Given the description of an element on the screen output the (x, y) to click on. 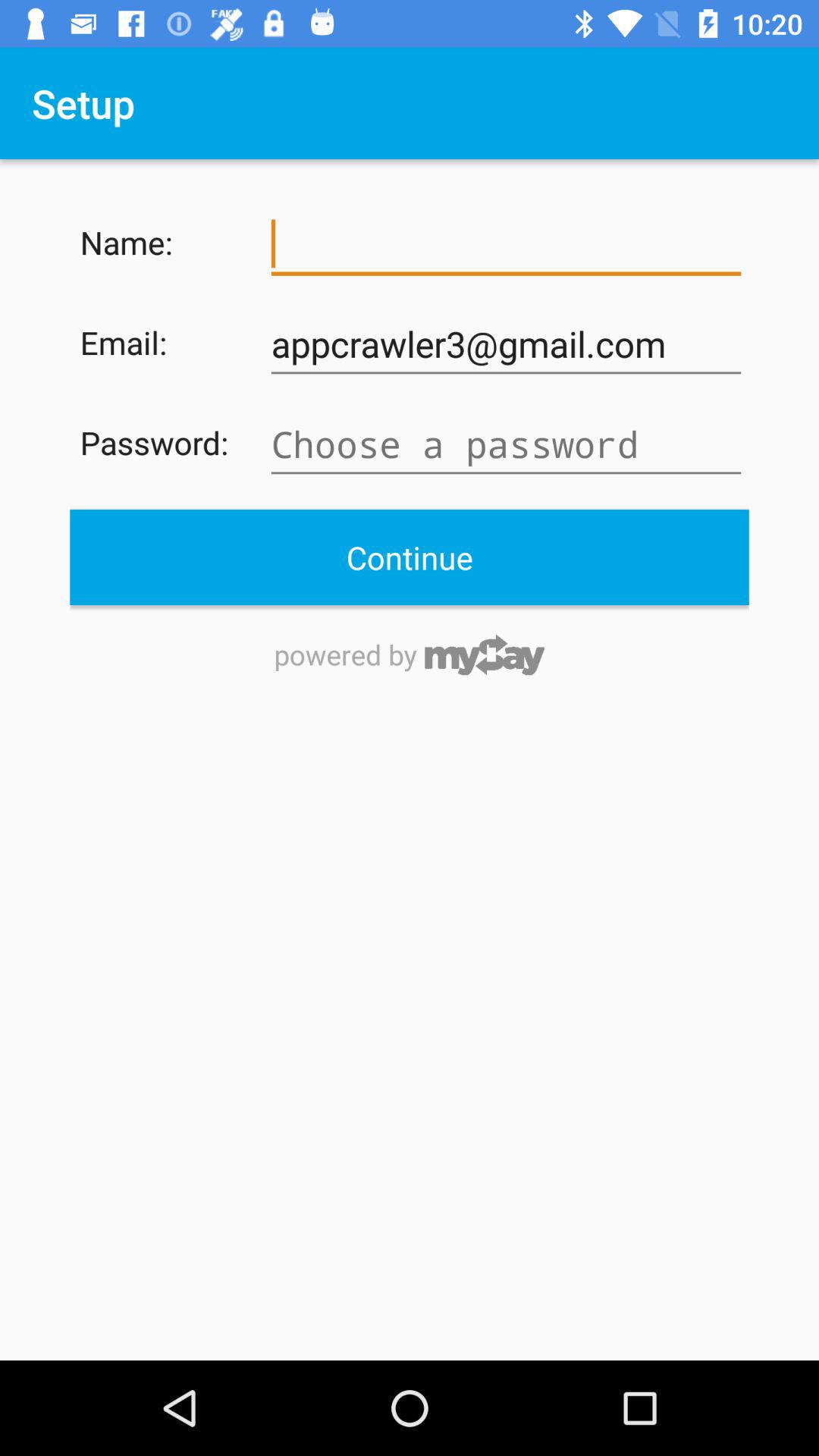
turn on the icon above continue icon (506, 444)
